Given the description of an element on the screen output the (x, y) to click on. 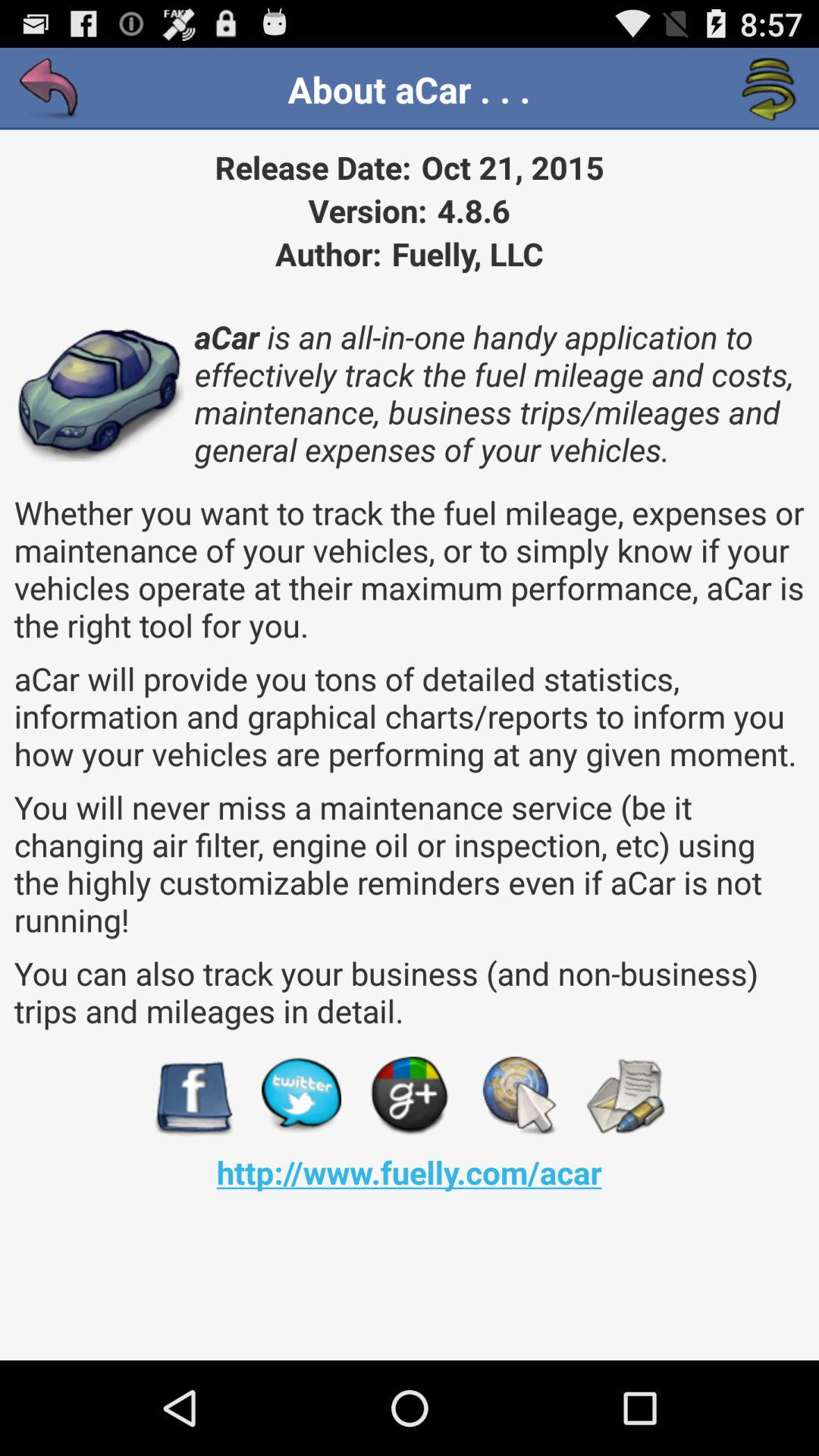
email (625, 1096)
